Given the description of an element on the screen output the (x, y) to click on. 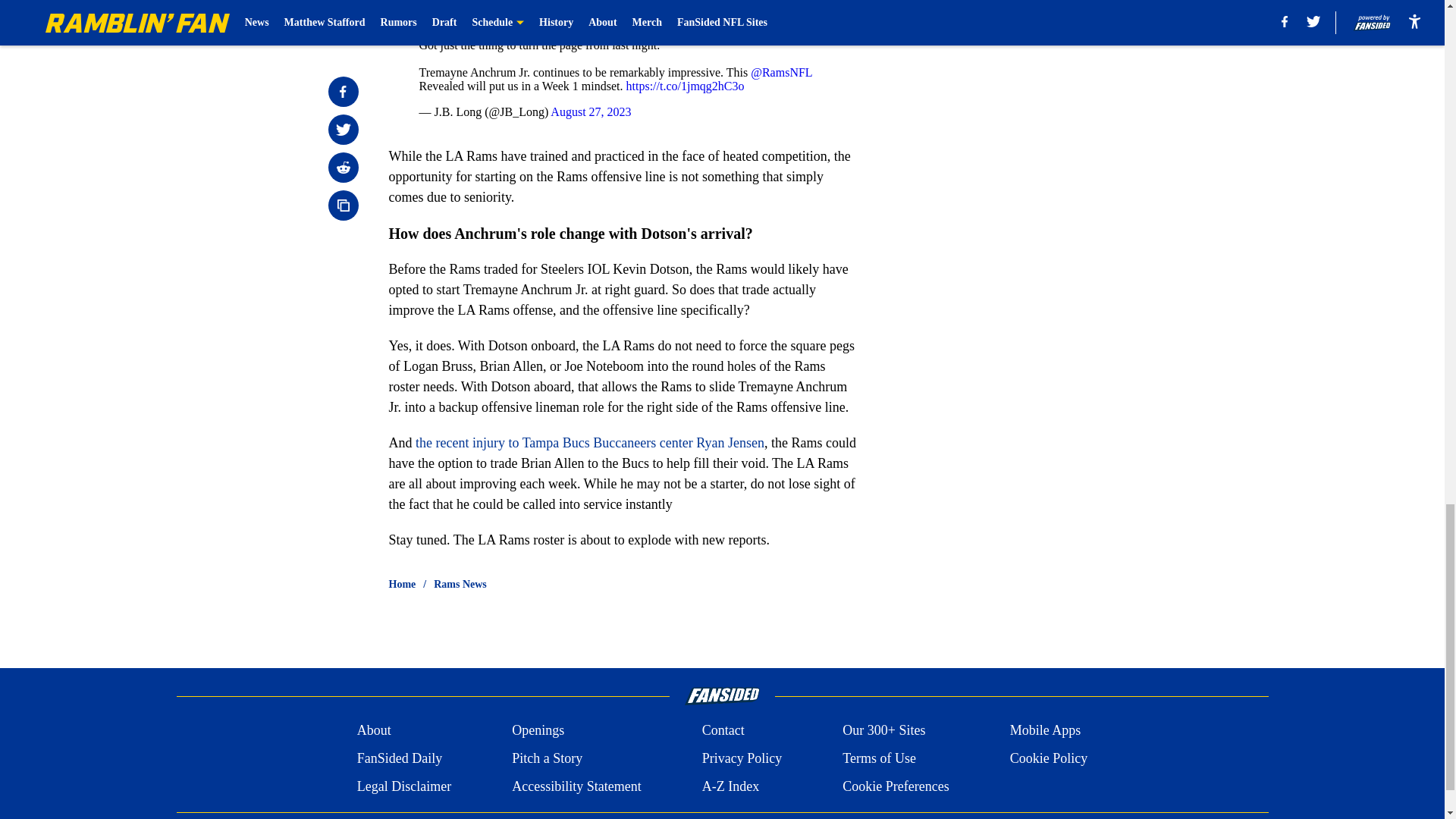
About (373, 730)
Privacy Policy (742, 758)
Accessibility Statement (576, 786)
August 27, 2023 (590, 111)
A-Z Index (729, 786)
Contact (722, 730)
Home (401, 584)
Terms of Use (879, 758)
Mobile Apps (1045, 730)
Openings (538, 730)
